Given the description of an element on the screen output the (x, y) to click on. 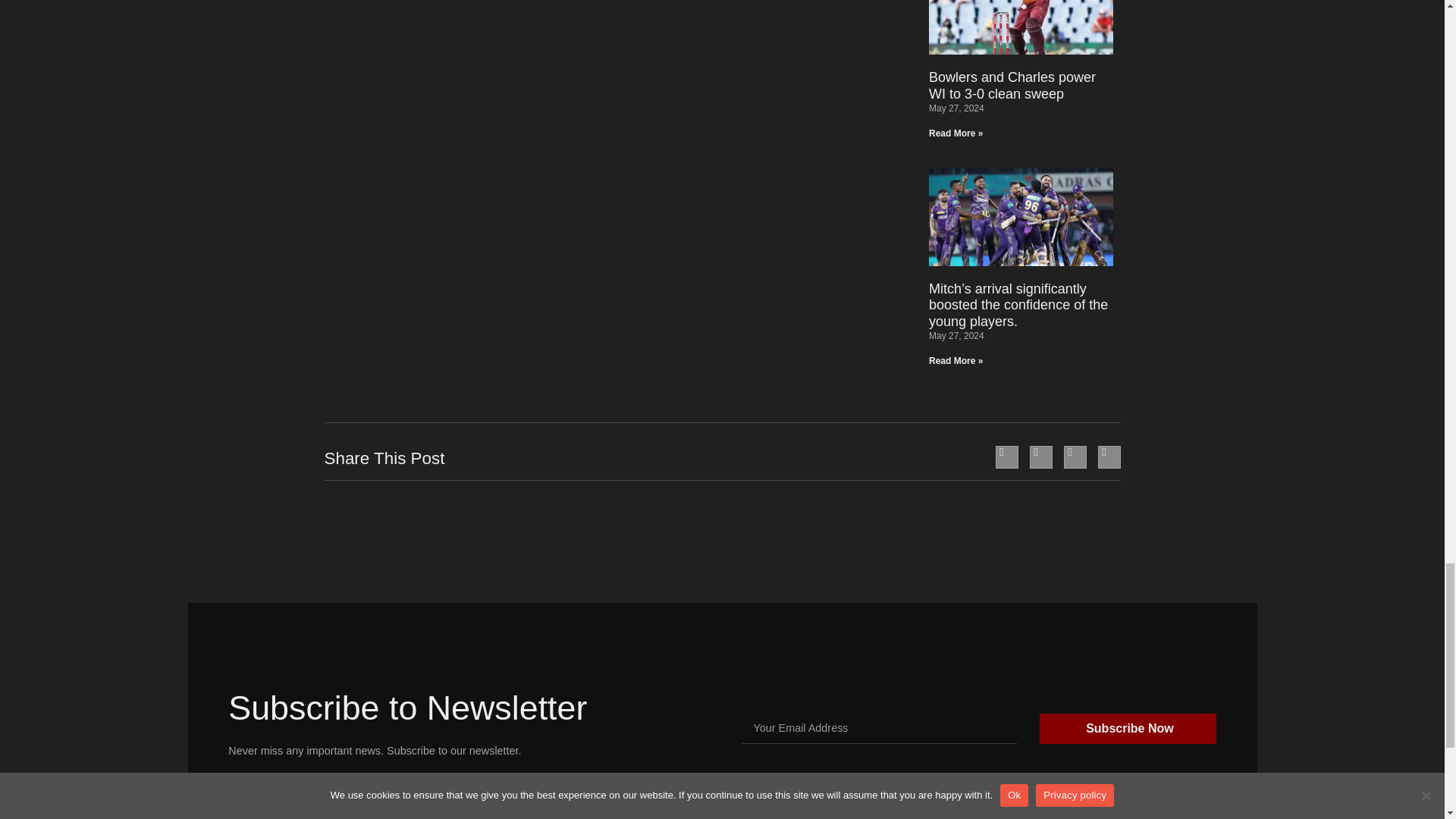
Subscribe Now (1127, 728)
Bowlers and Charles power WI to 3-0 clean sweep (1012, 85)
